Given the description of an element on the screen output the (x, y) to click on. 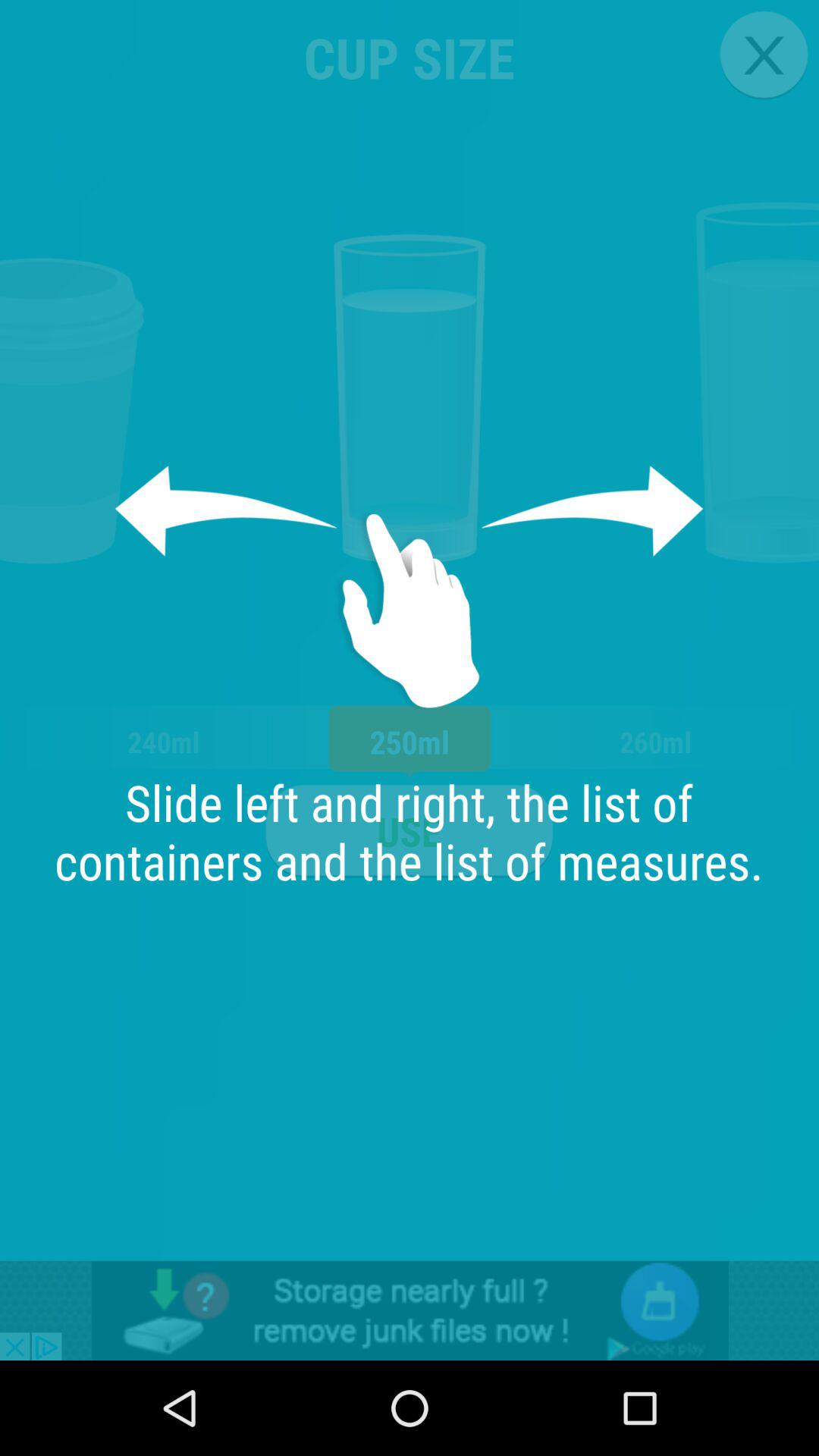
go to remove junk files (409, 1310)
